Given the description of an element on the screen output the (x, y) to click on. 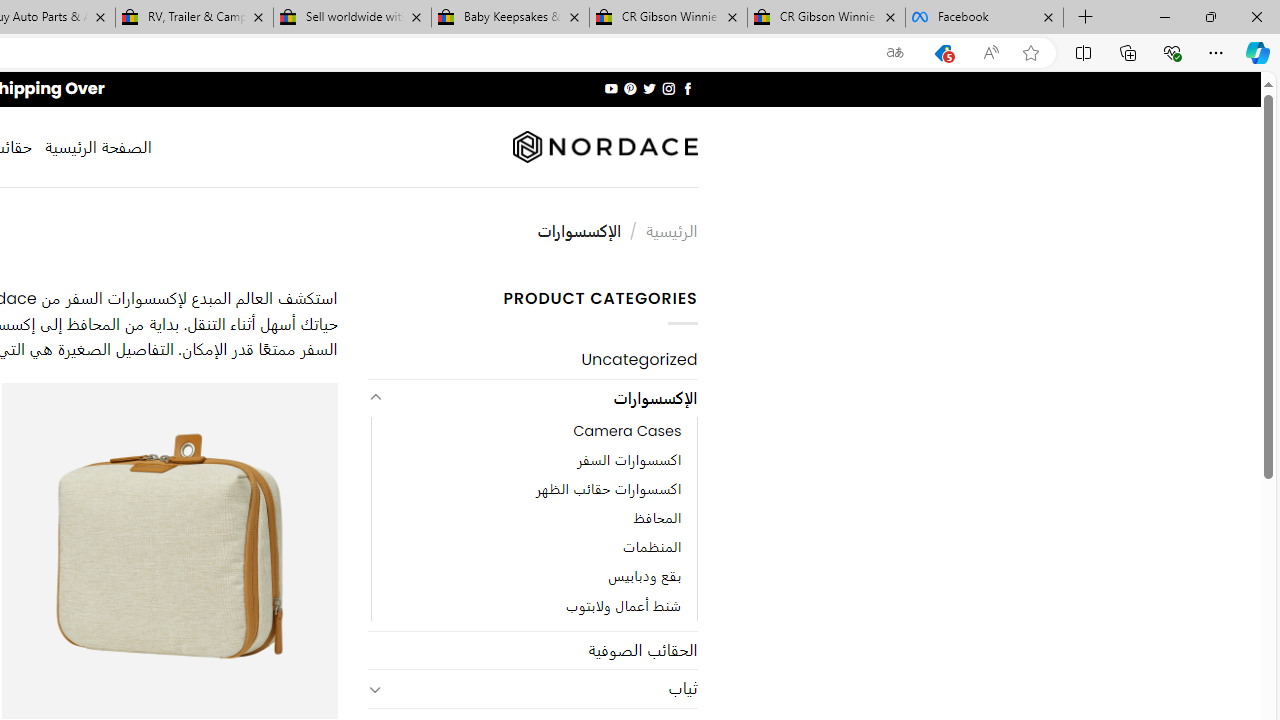
RV, Trailer & Camper Steps & Ladders for sale | eBay (194, 17)
Follow on Pinterest (630, 88)
Add this page to favorites (Ctrl+D) (1030, 53)
Restore (1210, 16)
Follow on Instagram (667, 88)
Collections (1128, 52)
Follow on YouTube (611, 88)
Minimize (1164, 16)
